Given the description of an element on the screen output the (x, y) to click on. 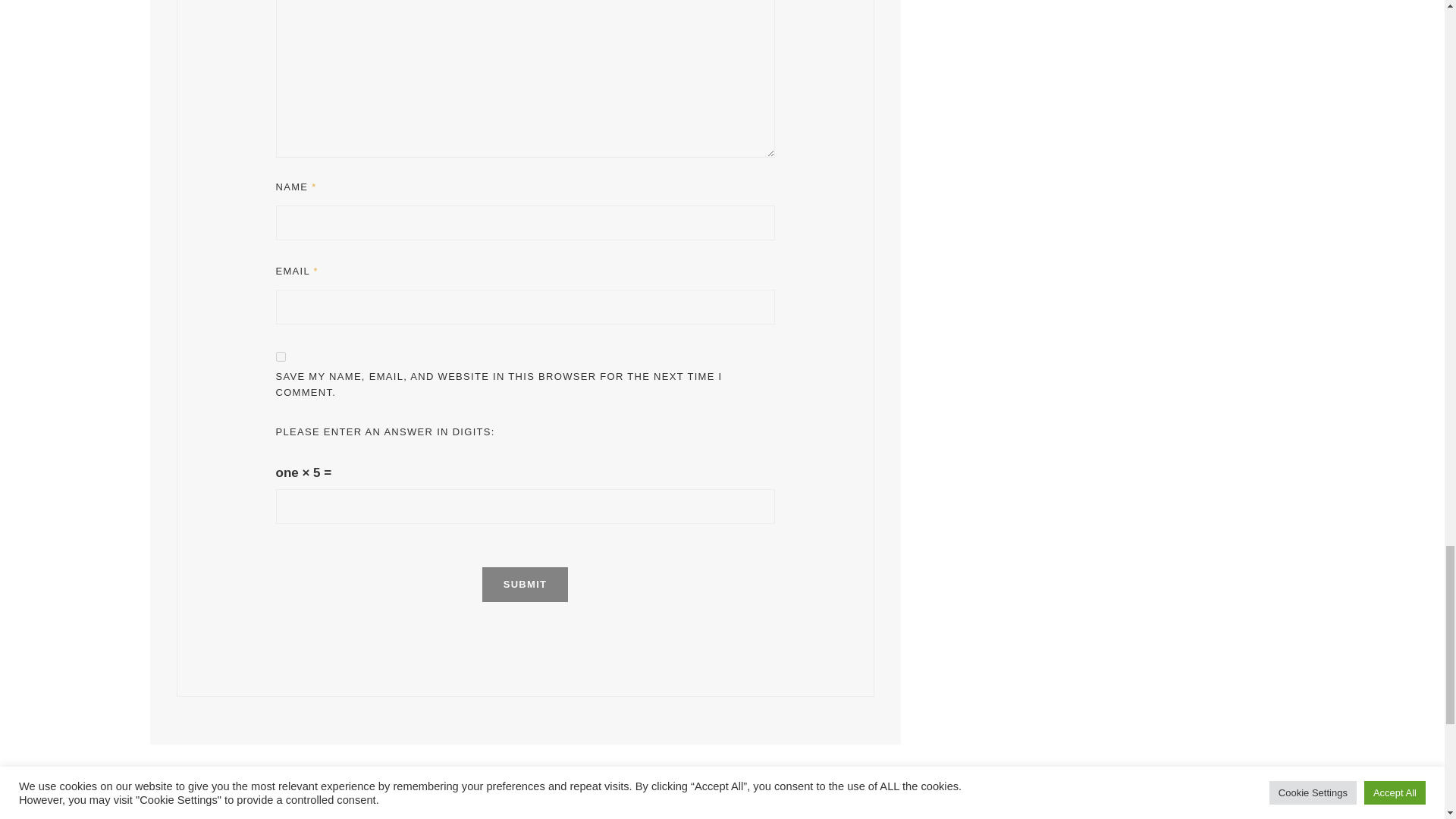
yes (280, 356)
Submit (525, 584)
Submit (525, 584)
